Given the description of an element on the screen output the (x, y) to click on. 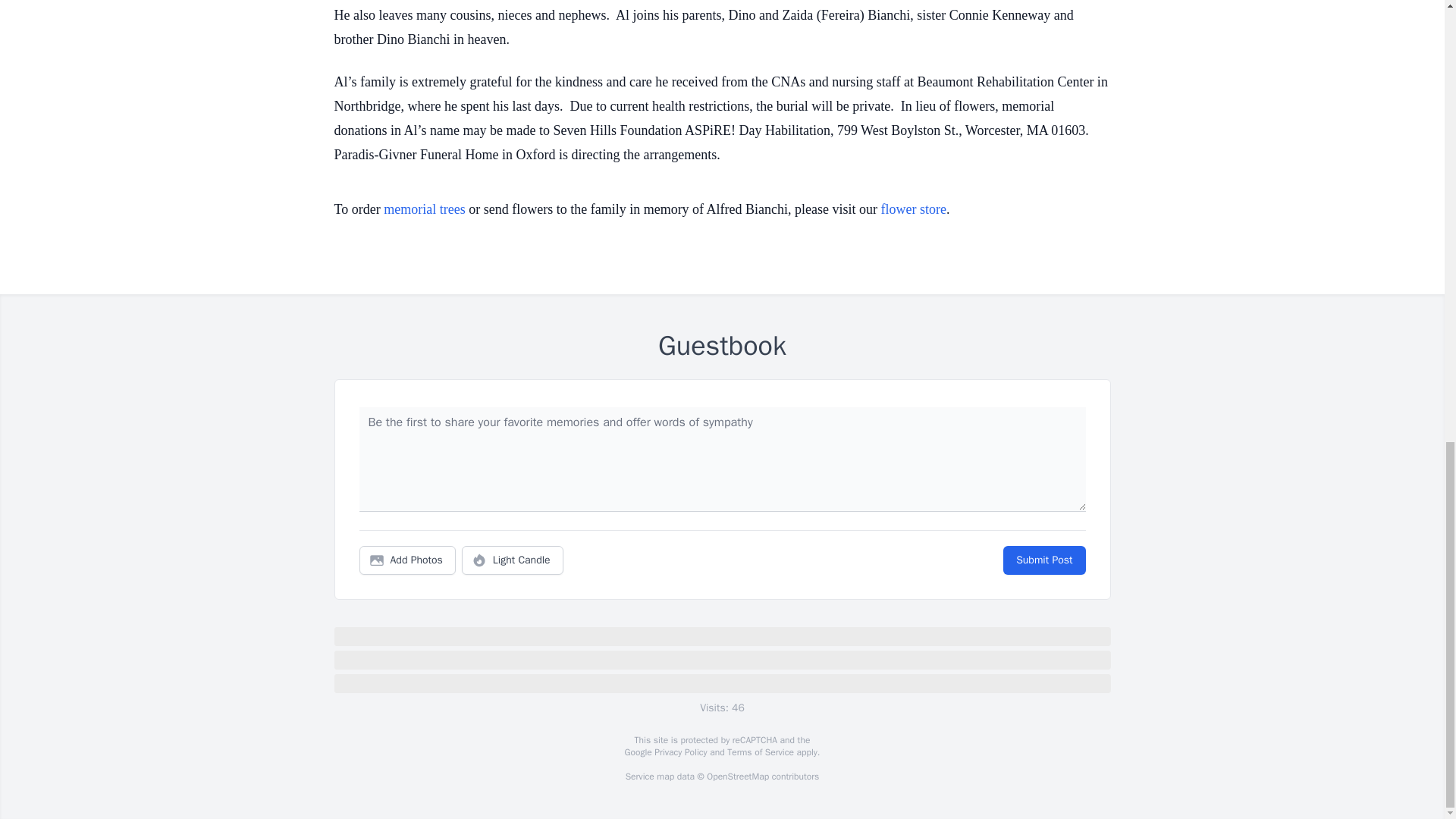
Privacy Policy (679, 752)
Submit Post (1043, 560)
memorial trees (424, 209)
Terms of Service (759, 752)
Add Photos (407, 560)
Light Candle (512, 560)
flower store (913, 209)
OpenStreetMap (737, 776)
